Given the description of an element on the screen output the (x, y) to click on. 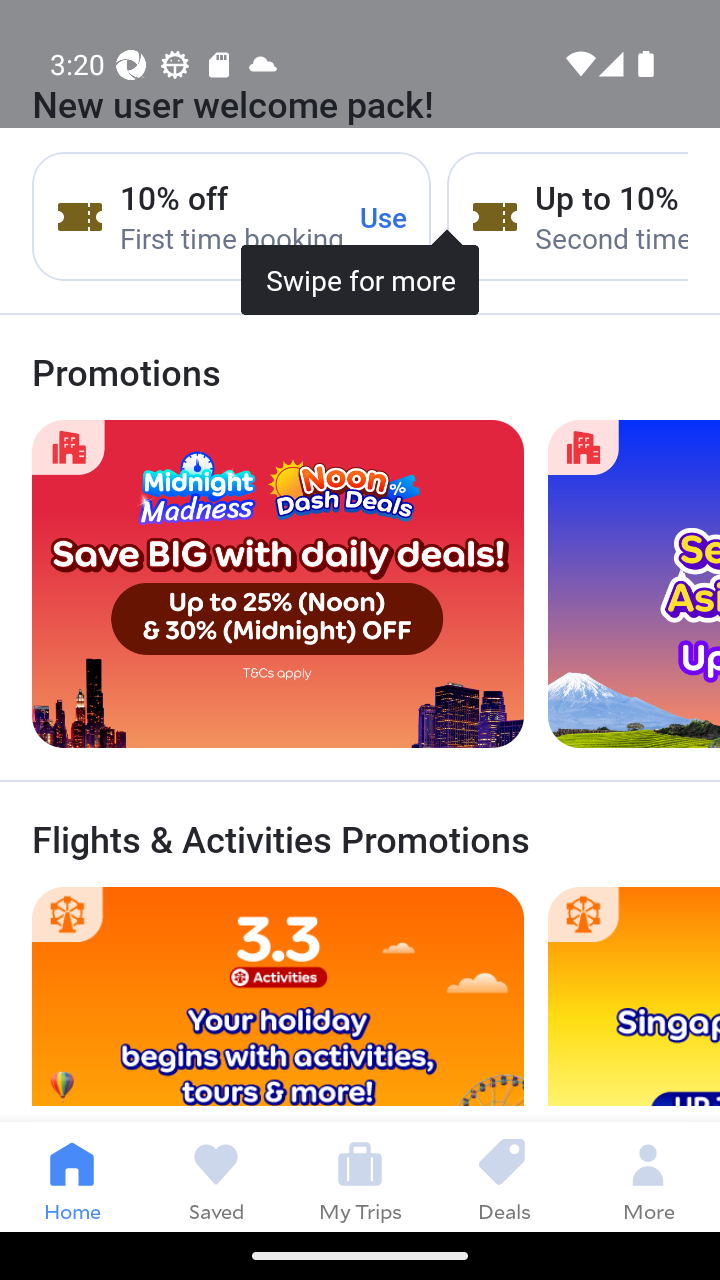
Swipe for more (360, 201)
Home (72, 1176)
Saved (216, 1176)
My Trips (360, 1176)
Deals (504, 1176)
More (648, 1176)
